Given the description of an element on the screen output the (x, y) to click on. 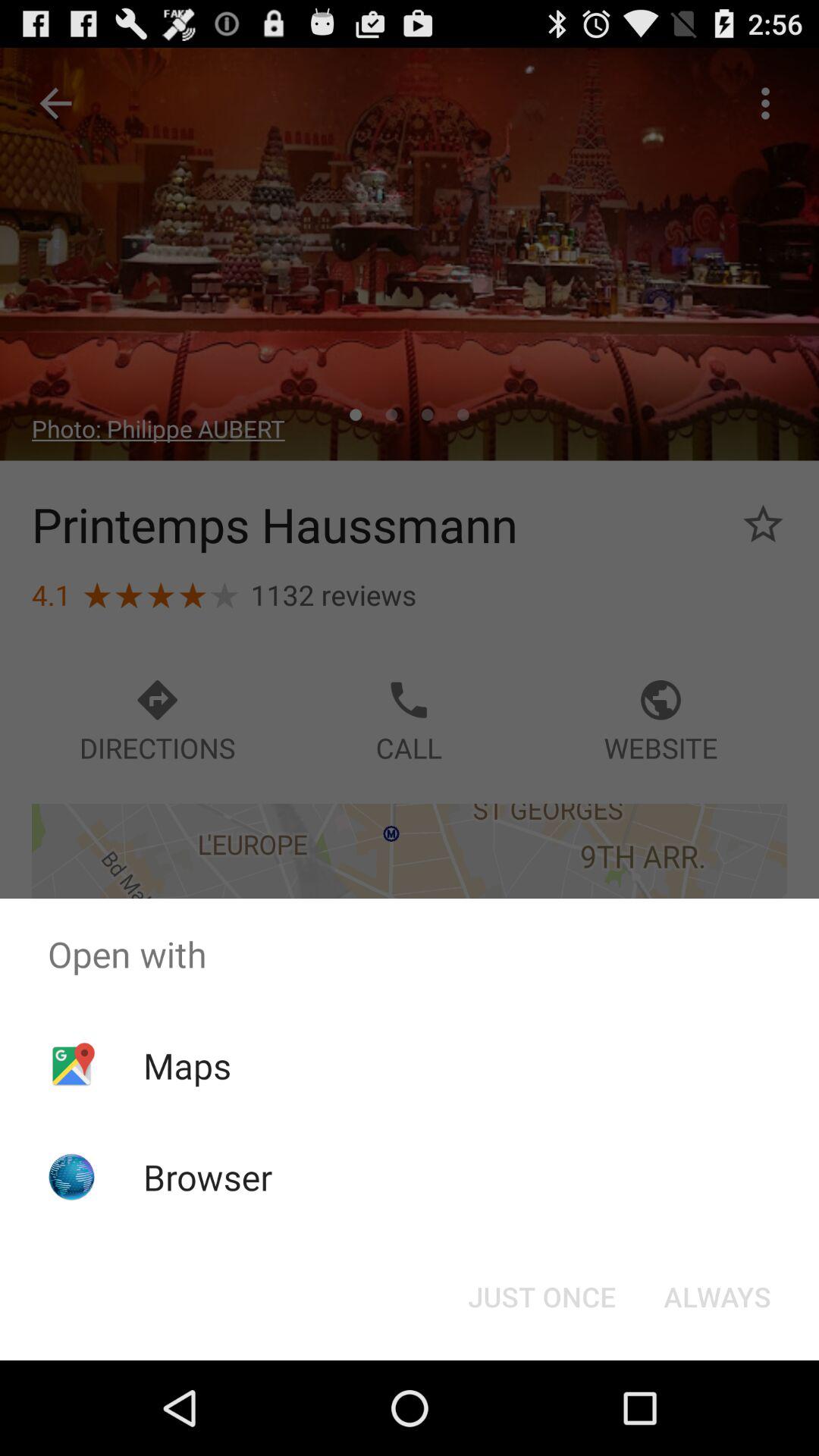
turn on always icon (717, 1296)
